Given the description of an element on the screen output the (x, y) to click on. 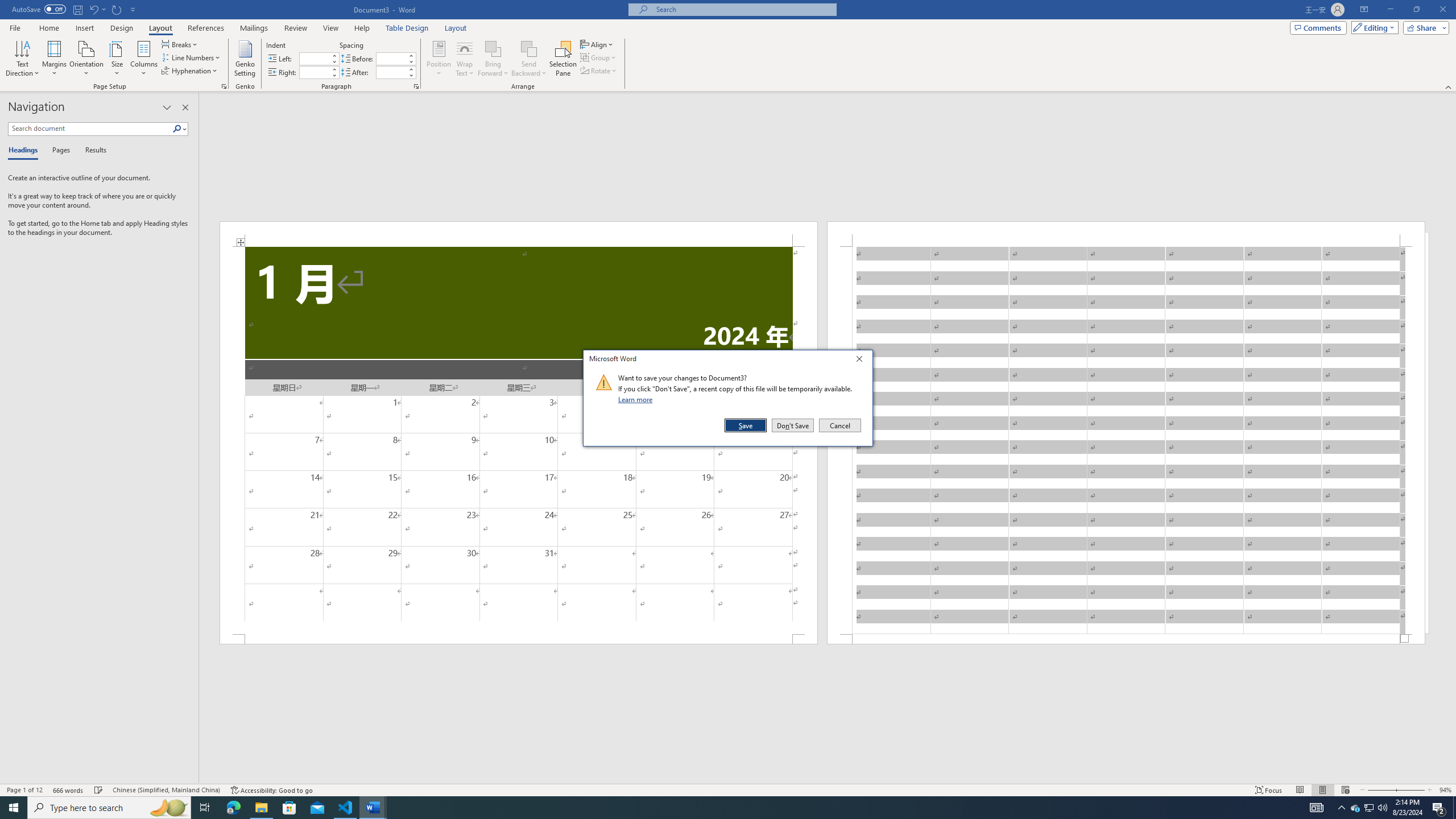
Align (597, 44)
